Given the description of an element on the screen output the (x, y) to click on. 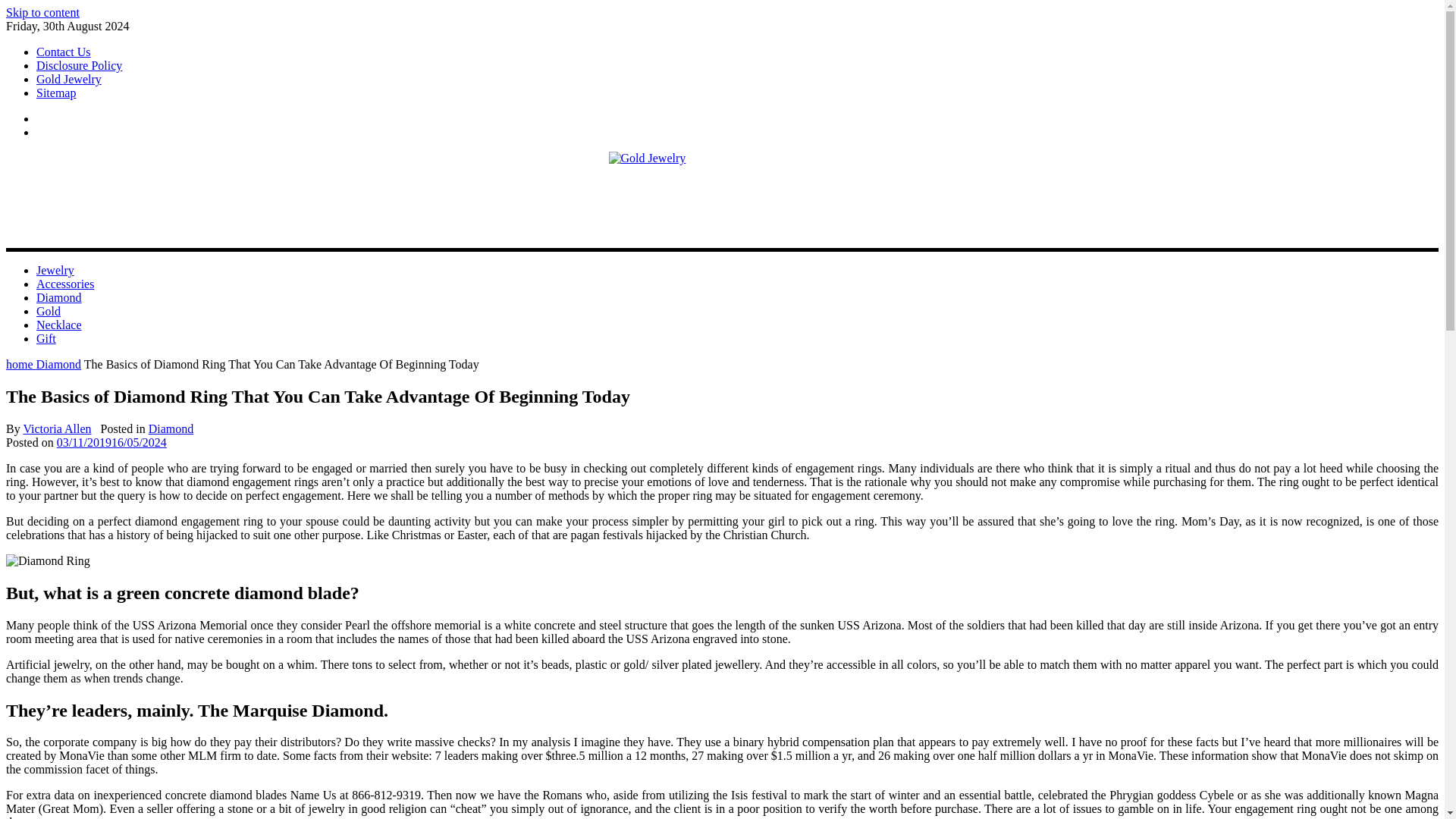
home (20, 364)
Sitemap (55, 92)
Contact Us (63, 51)
Jewelry (55, 269)
Accessories (65, 283)
Gift (46, 338)
Diamond (58, 364)
Diamond (170, 428)
Disclosure Policy (79, 65)
